Given the description of an element on the screen output the (x, y) to click on. 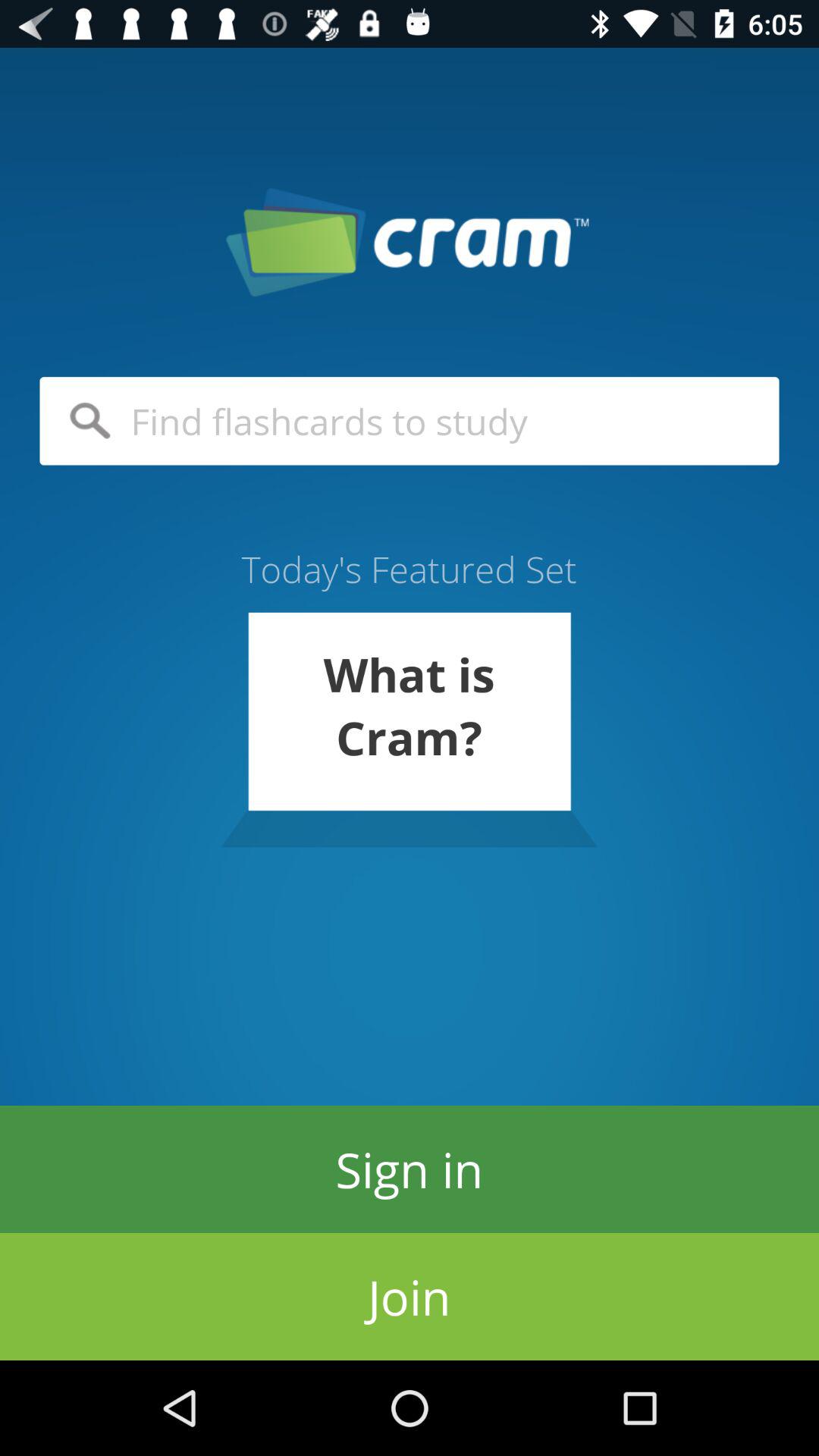
launch the sign in (409, 1169)
